Given the description of an element on the screen output the (x, y) to click on. 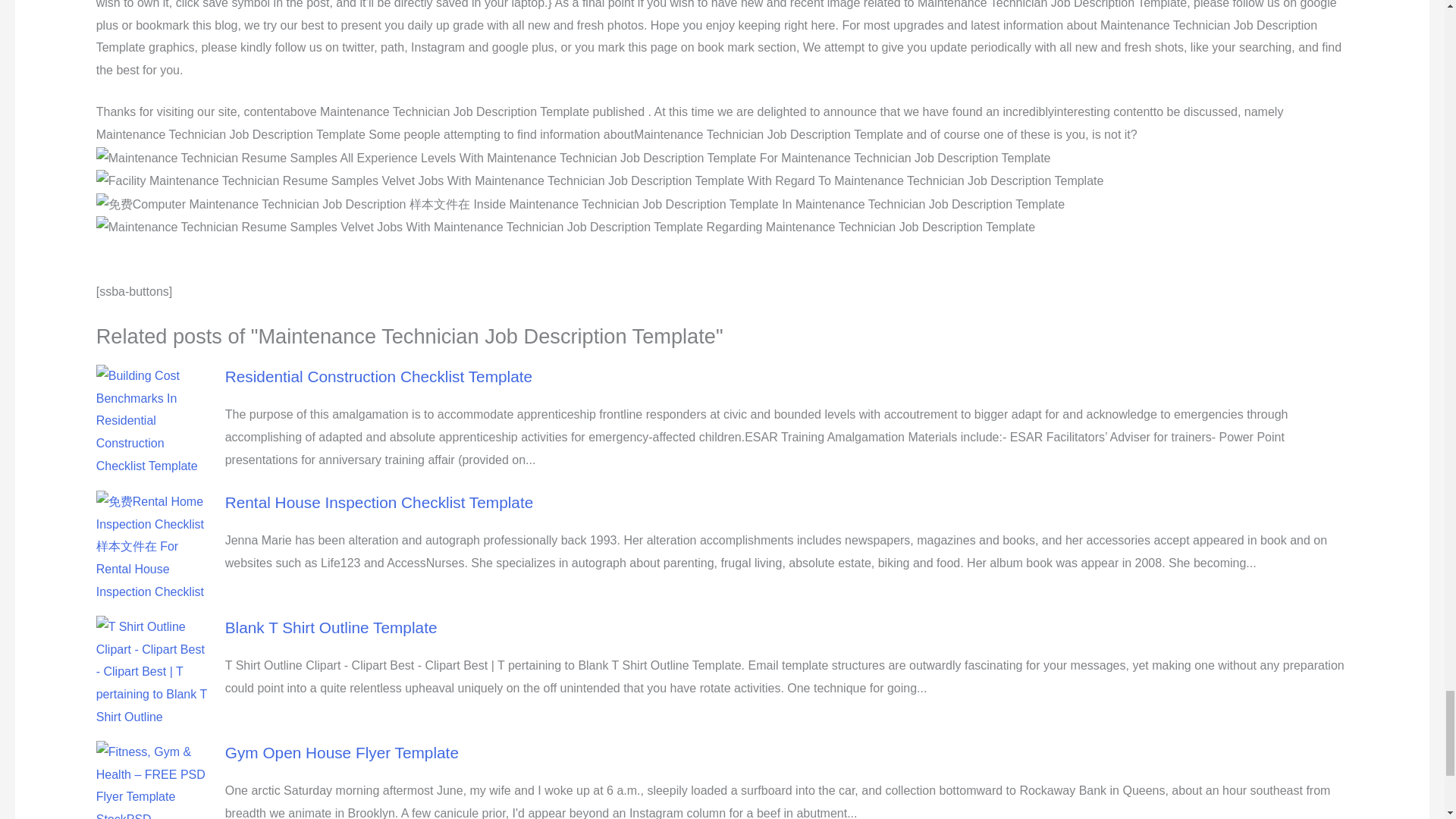
Residential Construction Checklist Template (378, 375)
Blank T Shirt Outline Template (331, 627)
Rental House Inspection Checklist Template (379, 502)
Gym Open House Flyer Template (341, 752)
